Given the description of an element on the screen output the (x, y) to click on. 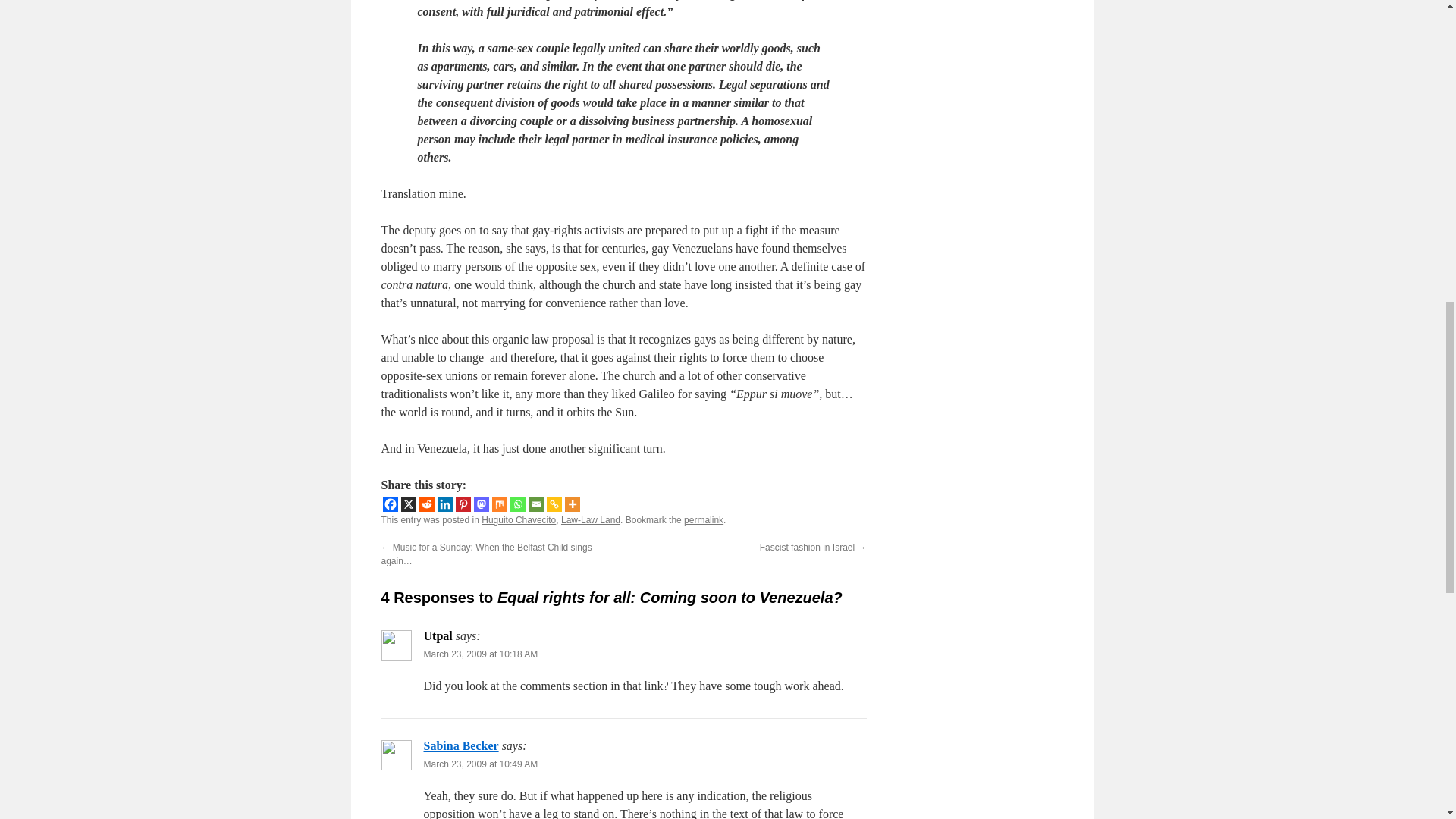
Facebook (389, 503)
permalink (703, 520)
Linkedin (443, 503)
Whatsapp (516, 503)
X (407, 503)
Huguito Chavecito (518, 520)
More (571, 503)
Mix (499, 503)
Sabina Becker (460, 745)
Pinterest (462, 503)
March 23, 2009 at 10:18 AM (480, 654)
Email (535, 503)
Copy Link (553, 503)
Mastodon (480, 503)
March 23, 2009 at 10:49 AM (480, 764)
